Given the description of an element on the screen output the (x, y) to click on. 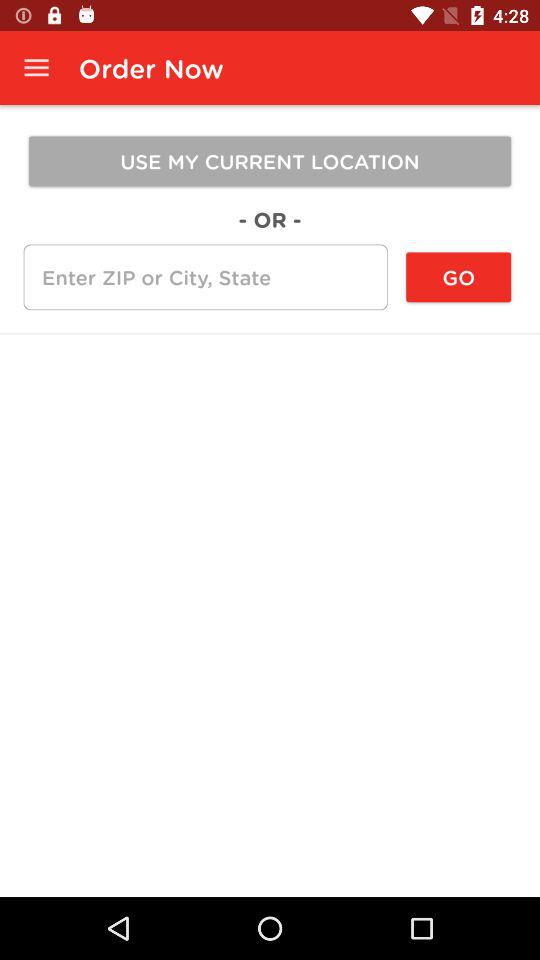
turn on icon below use my current icon (269, 219)
